Given the description of an element on the screen output the (x, y) to click on. 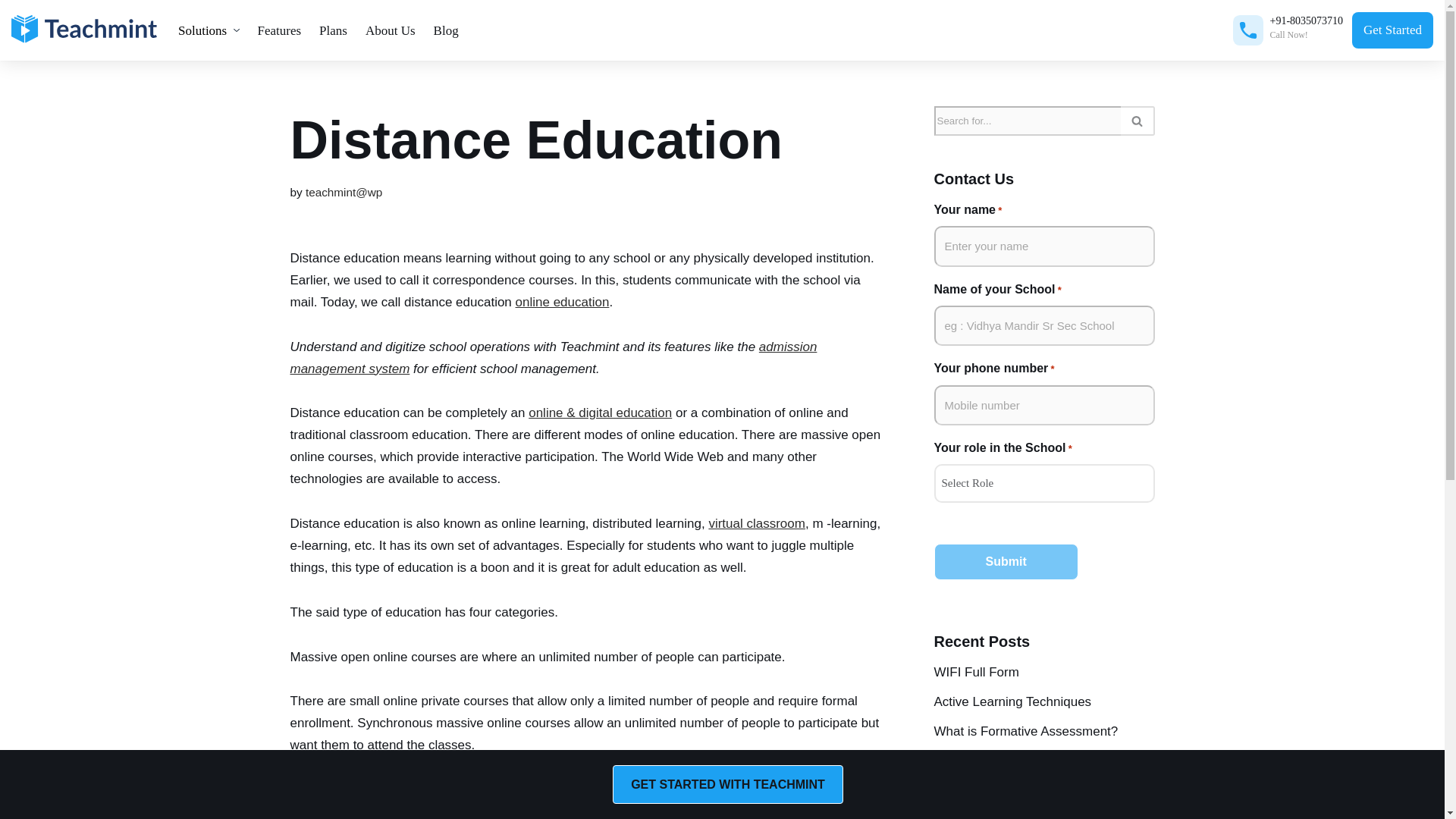
Skip to content (11, 31)
Blog (446, 30)
Submit (1006, 561)
Plans (333, 30)
About Us (390, 30)
Features (279, 30)
